Given the description of an element on the screen output the (x, y) to click on. 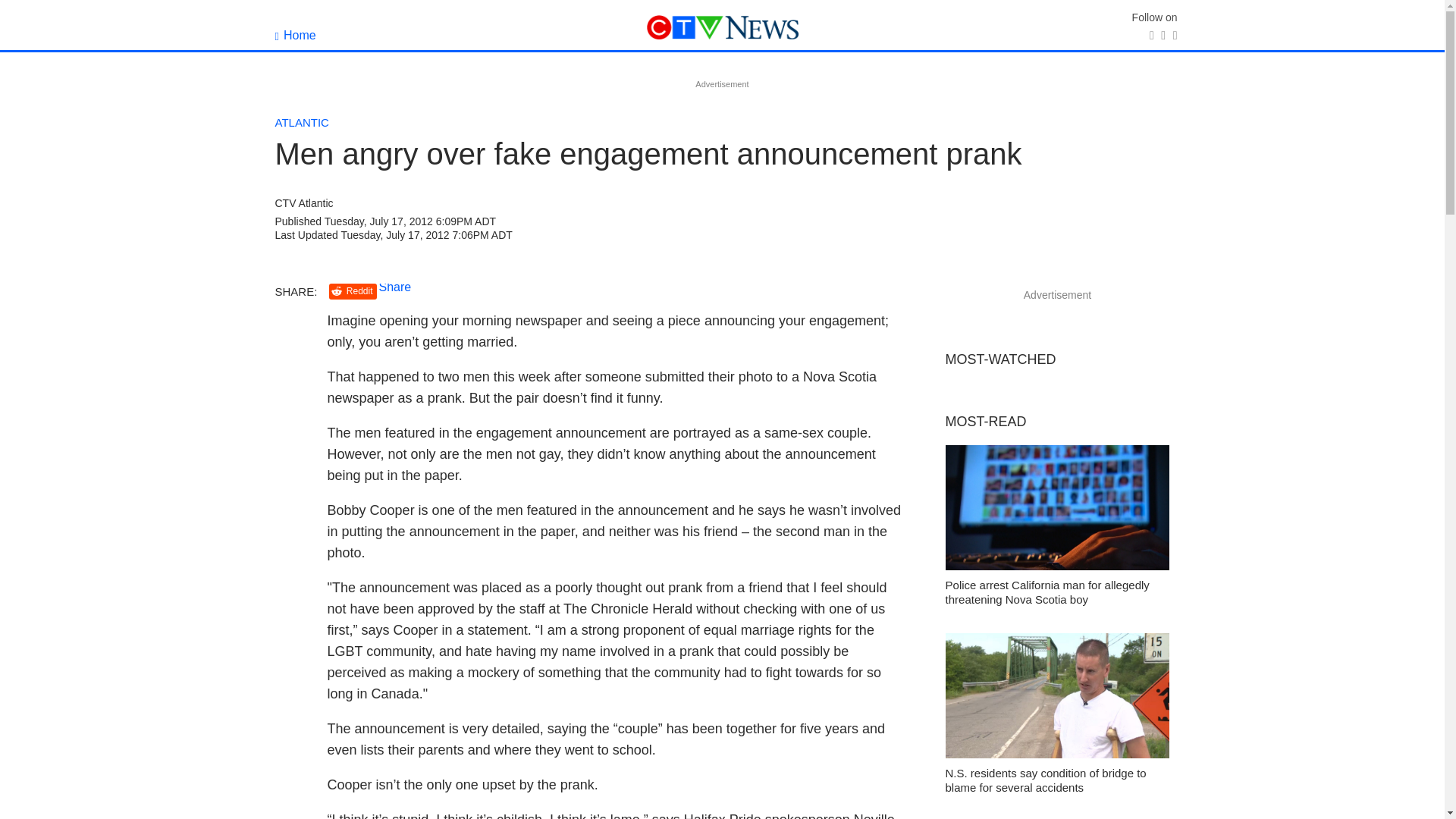
Reddit (353, 291)
Share (395, 286)
Home (295, 34)
ATLANTIC (302, 122)
